Given the description of an element on the screen output the (x, y) to click on. 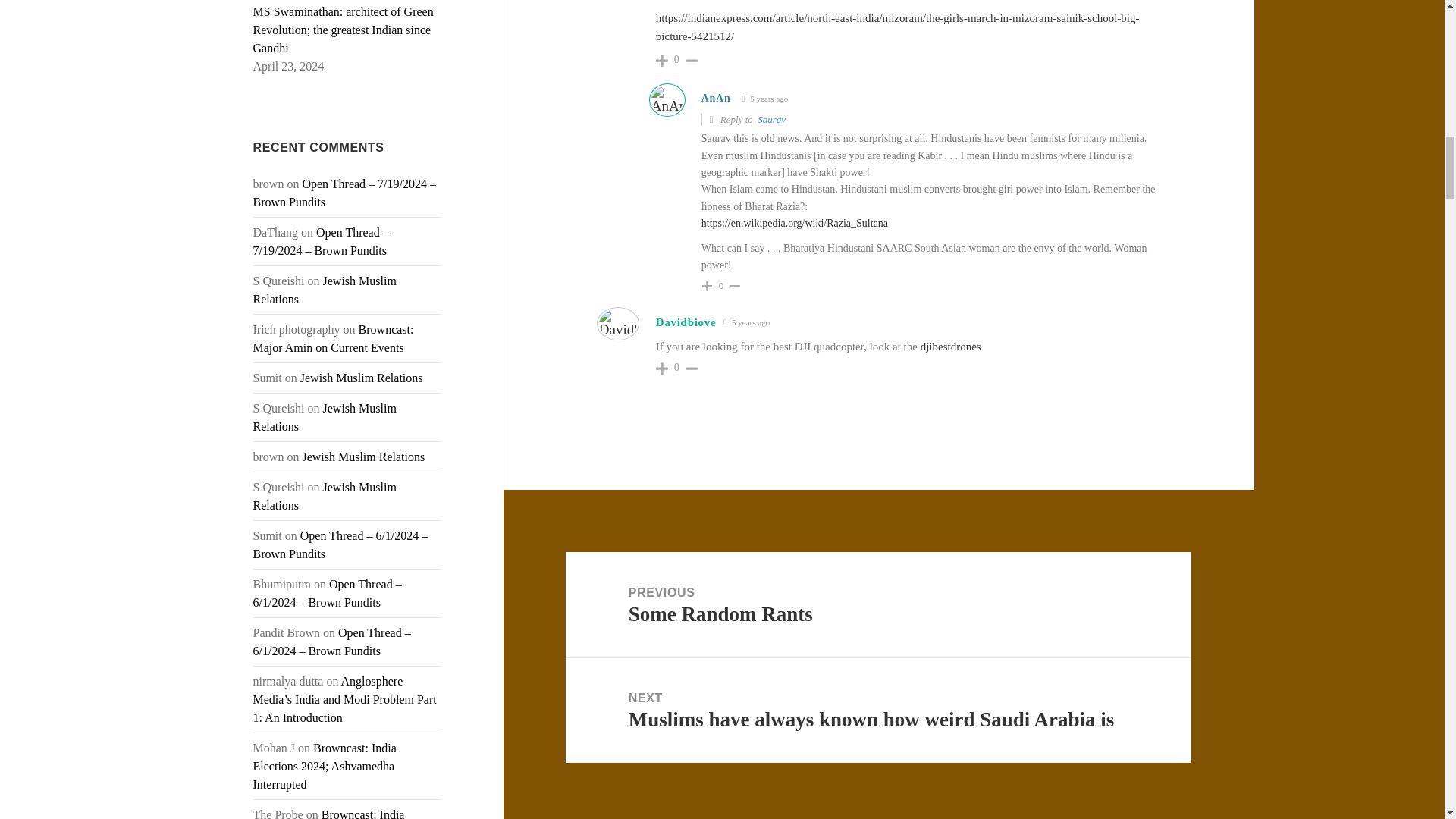
Jewish Muslim Relations (363, 456)
Jewish Muslim Relations (324, 417)
Browncast: Major Amin on Current Events (333, 337)
Jewish Muslim Relations (324, 289)
Jewish Muslim Relations (324, 495)
0 (676, 60)
Jewish Muslim Relations (361, 377)
